Given the description of an element on the screen output the (x, y) to click on. 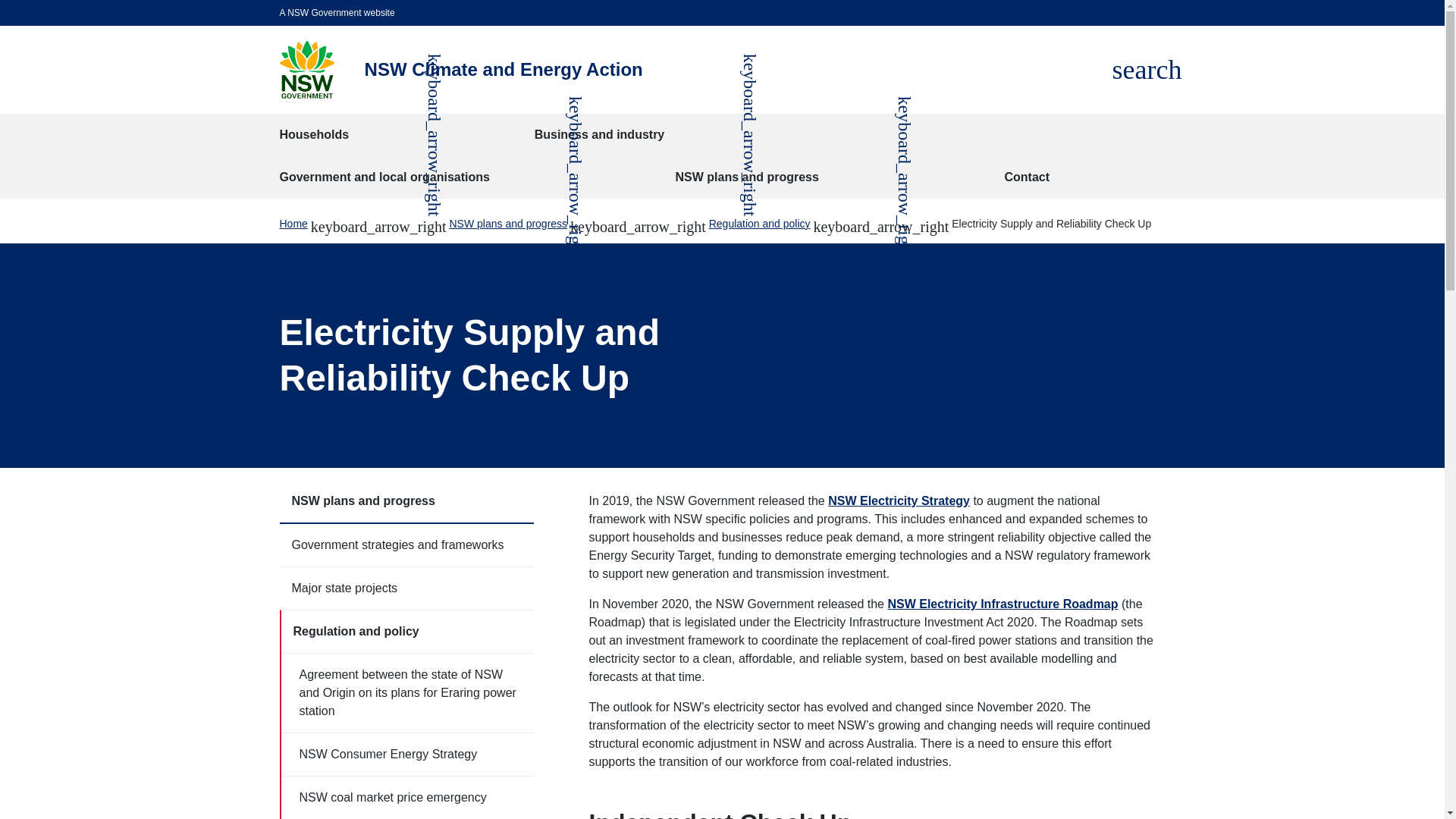
NSW Climate and Energy Action (1146, 69)
NSW Climate and Energy Action (306, 69)
